Given the description of an element on the screen output the (x, y) to click on. 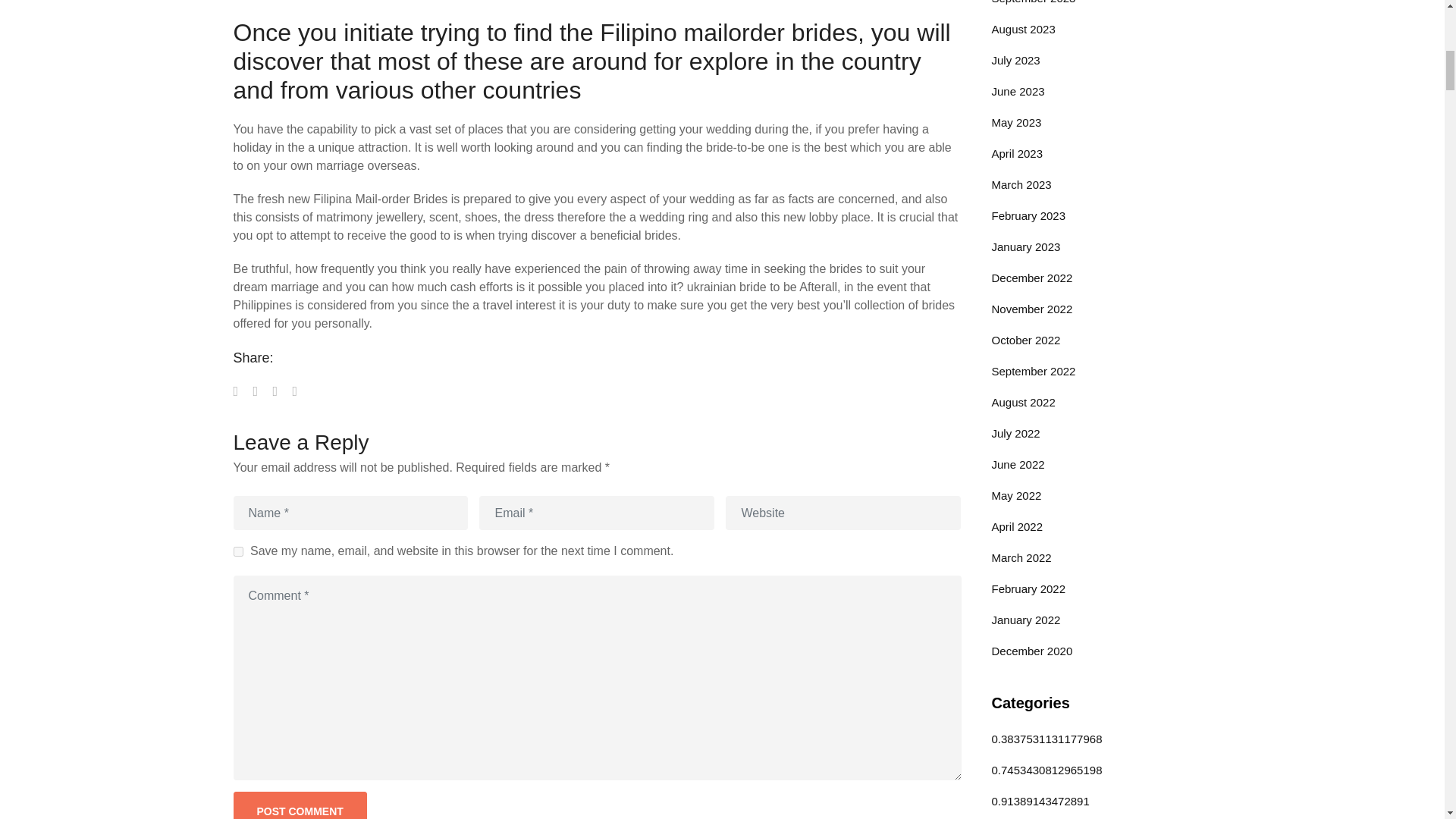
yes (237, 551)
September 2023 (1033, 2)
Post Comment (299, 805)
Post Comment (299, 805)
